Given the description of an element on the screen output the (x, y) to click on. 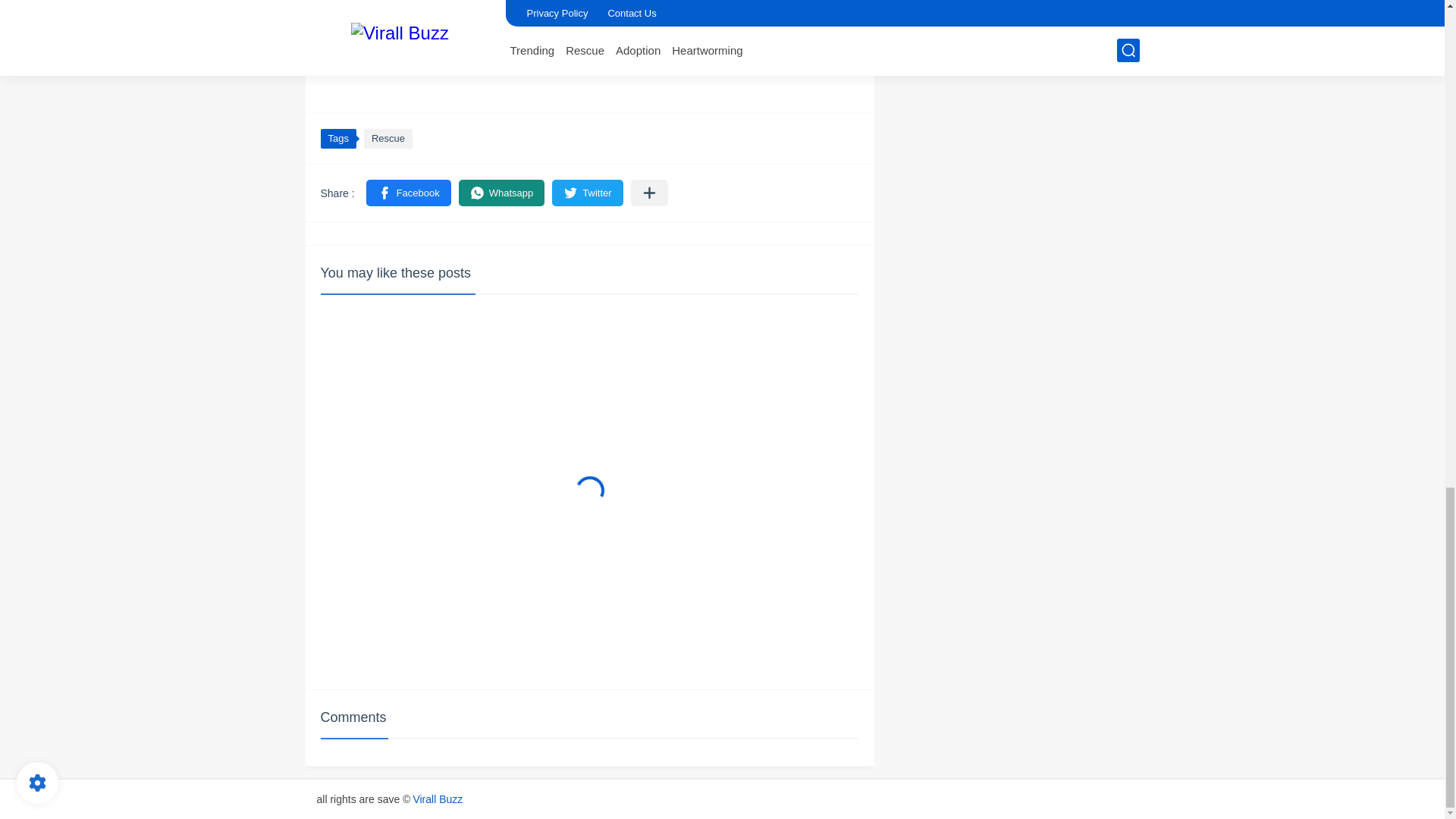
Rescue (388, 138)
Rescue (388, 138)
